Given the description of an element on the screen output the (x, y) to click on. 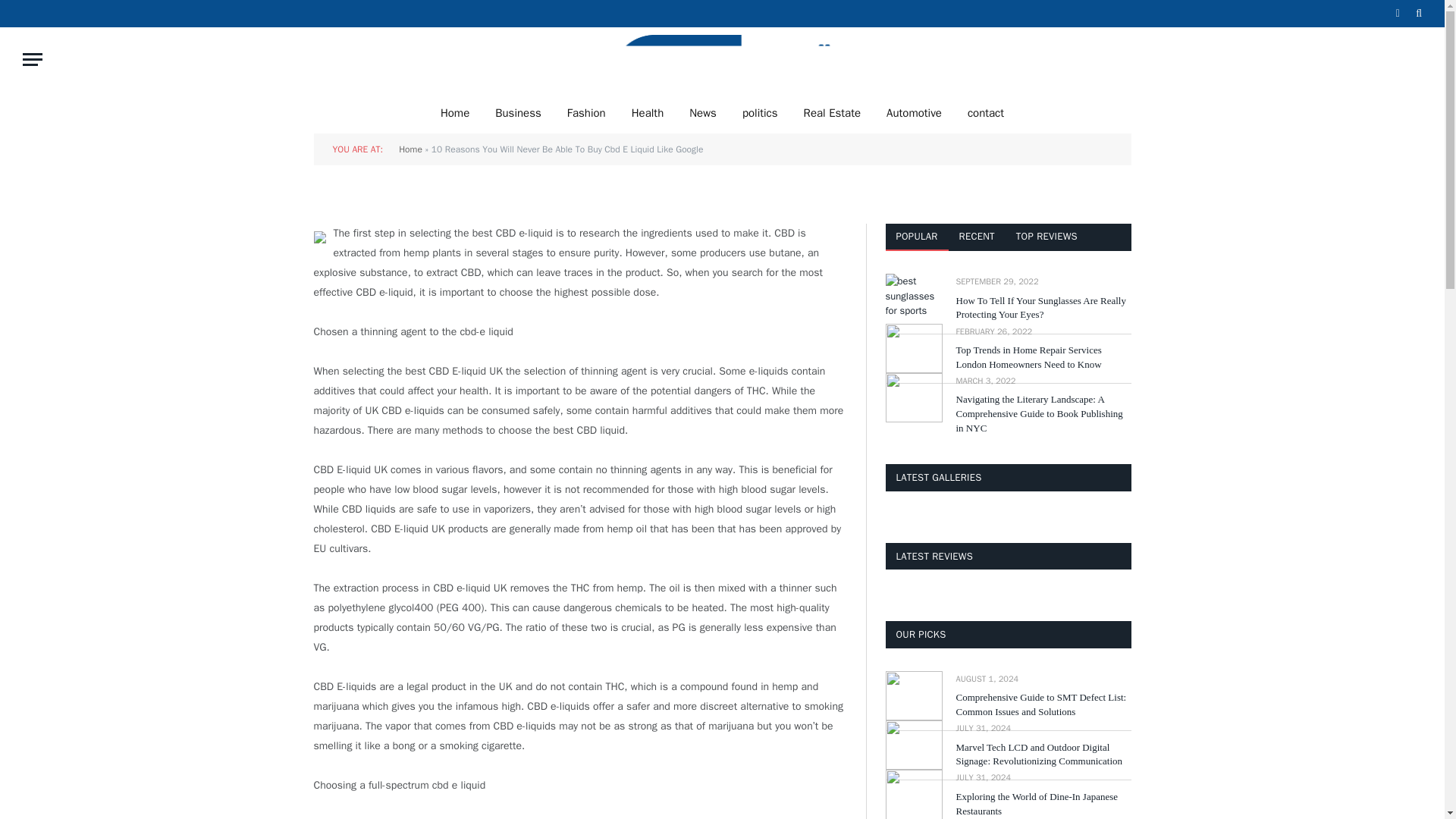
Reality Papers (721, 59)
Switch to Dark Design - easier on eyes. (1397, 13)
Home (454, 112)
Health (647, 112)
Real Estate (831, 112)
News (703, 112)
contact (985, 112)
Automotive (914, 112)
Fashion (586, 112)
Business (517, 112)
Home (410, 149)
politics (759, 112)
